Given the description of an element on the screen output the (x, y) to click on. 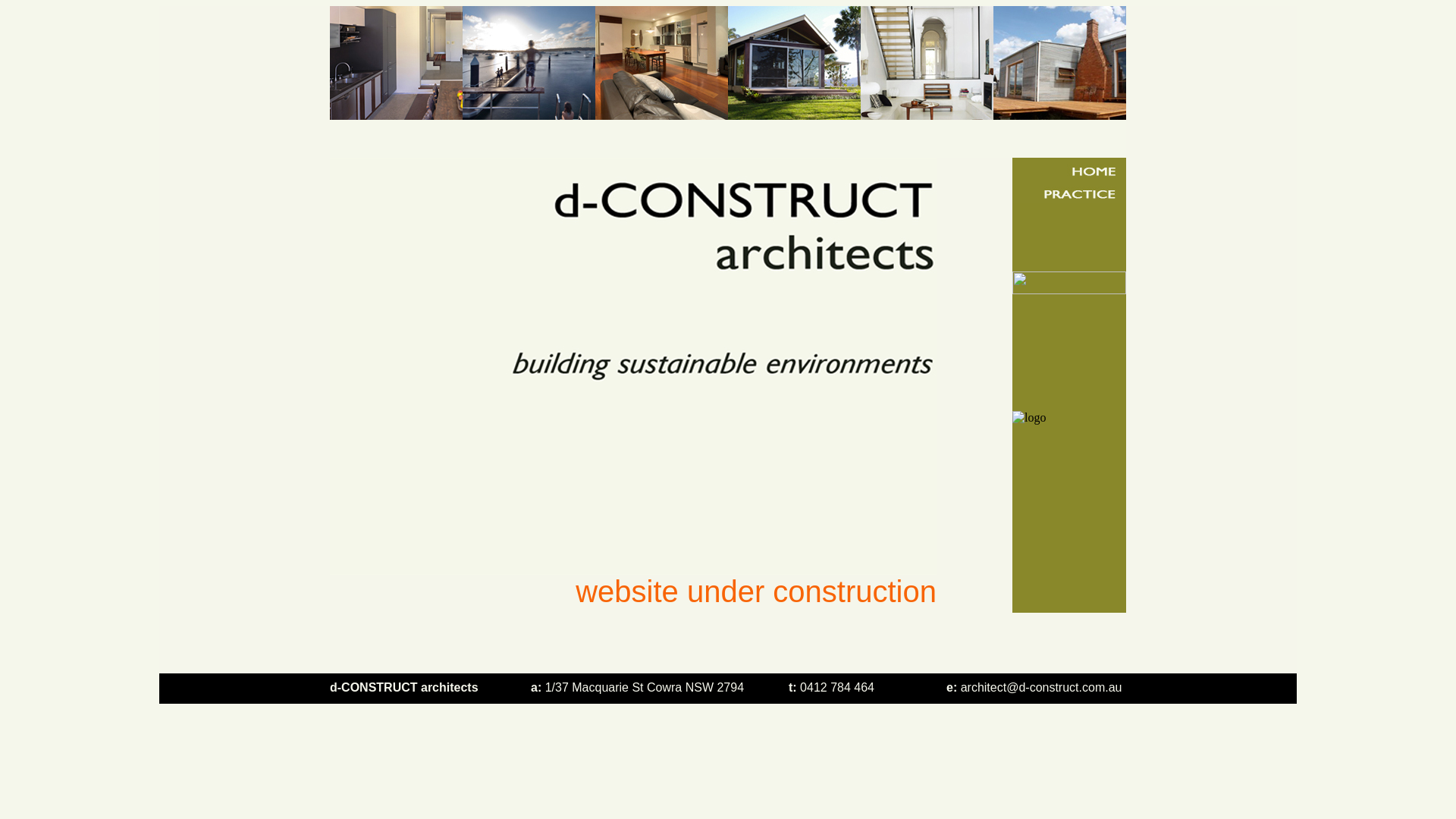
architect@d-construct.com.au Element type: text (1041, 686)
